Given the description of an element on the screen output the (x, y) to click on. 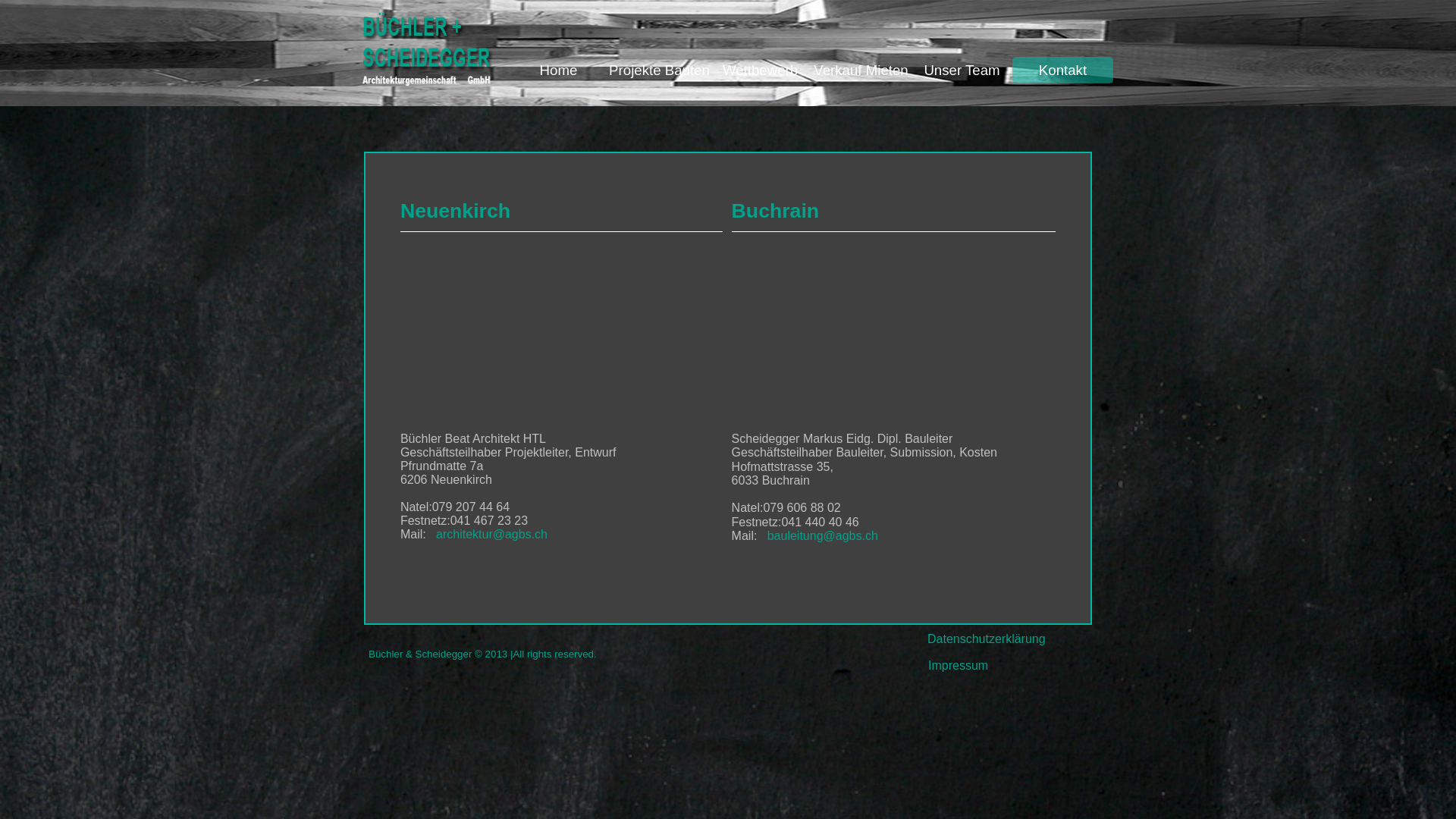
Projekte Bauten Element type: text (658, 69)
architektur@agbs.ch Element type: text (491, 533)
Kontakt Element type: text (1062, 69)
bauleitung@agbs.ch Element type: text (822, 535)
Impressum Element type: text (958, 664)
Home Element type: text (558, 69)
Verkauf Mieten Element type: text (860, 69)
Wettbewerb Element type: text (759, 69)
Unser Team Element type: text (961, 69)
